Given the description of an element on the screen output the (x, y) to click on. 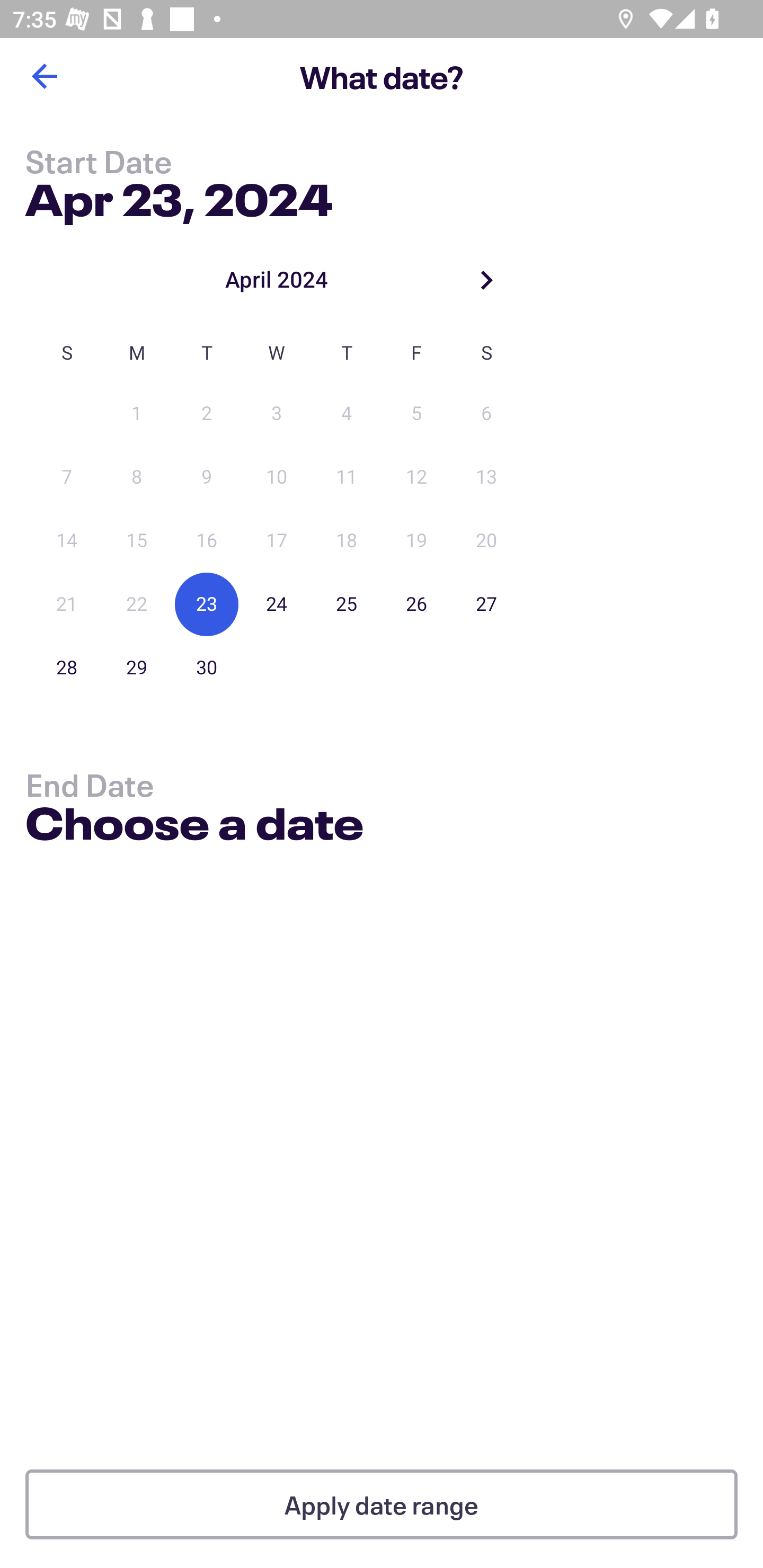
Back button (44, 75)
Apr 23, 2024 (178, 195)
Next month (486, 279)
1 01 April 2024 (136, 413)
2 02 April 2024 (206, 413)
3 03 April 2024 (276, 413)
4 04 April 2024 (346, 413)
5 05 April 2024 (416, 413)
6 06 April 2024 (486, 413)
7 07 April 2024 (66, 477)
8 08 April 2024 (136, 477)
9 09 April 2024 (206, 477)
10 10 April 2024 (276, 477)
11 11 April 2024 (346, 477)
12 12 April 2024 (416, 477)
13 13 April 2024 (486, 477)
14 14 April 2024 (66, 540)
15 15 April 2024 (136, 540)
16 16 April 2024 (206, 540)
17 17 April 2024 (276, 540)
18 18 April 2024 (346, 540)
19 19 April 2024 (416, 540)
20 20 April 2024 (486, 540)
21 21 April 2024 (66, 604)
22 22 April 2024 (136, 604)
23 23 April 2024 (206, 604)
24 24 April 2024 (276, 604)
25 25 April 2024 (346, 604)
26 26 April 2024 (416, 604)
27 27 April 2024 (486, 604)
28 28 April 2024 (66, 667)
29 29 April 2024 (136, 667)
30 30 April 2024 (206, 667)
Choose a date (194, 826)
Apply date range (381, 1504)
